Given the description of an element on the screen output the (x, y) to click on. 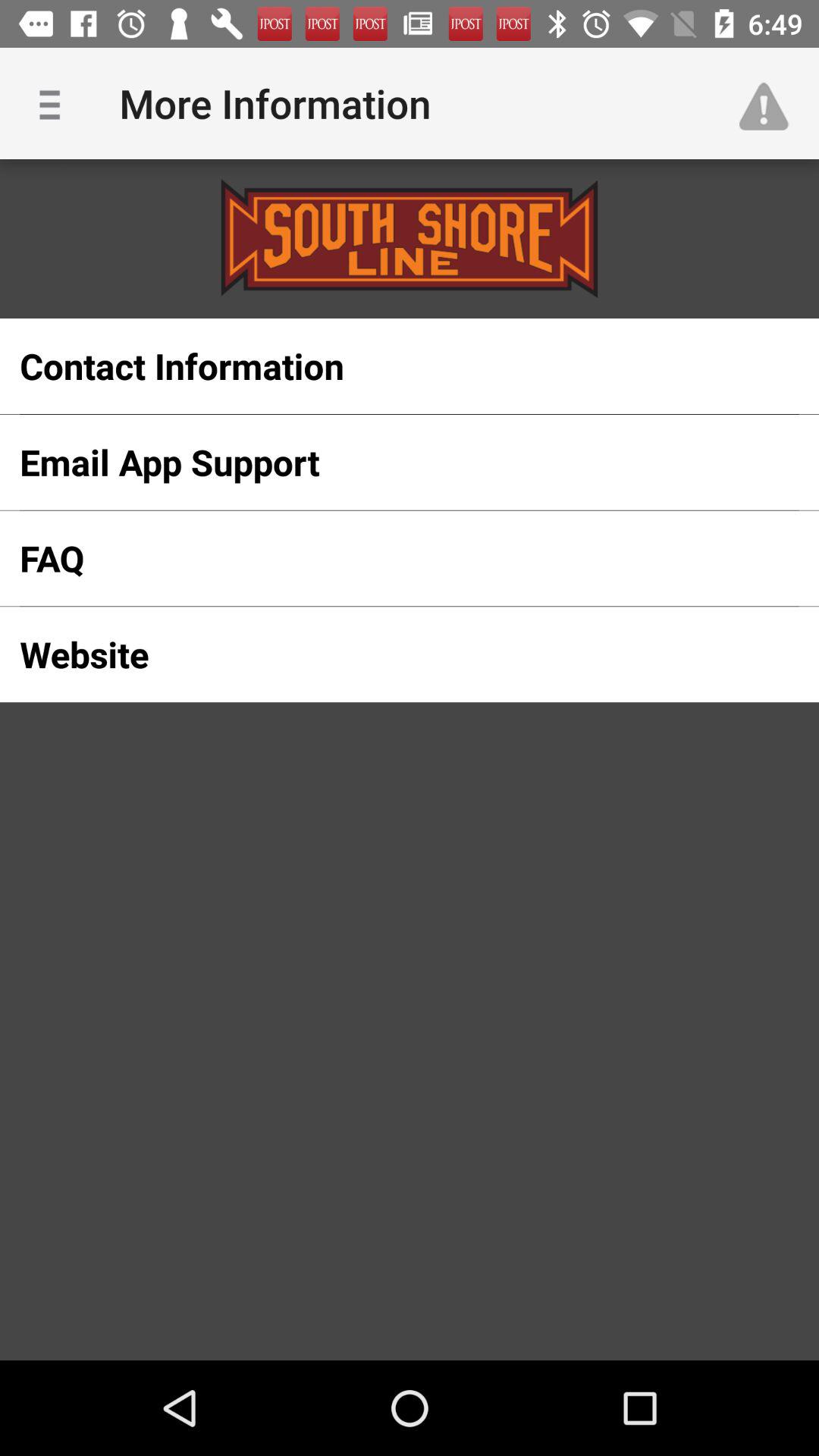
choose icon at the top left corner (55, 103)
